Given the description of an element on the screen output the (x, y) to click on. 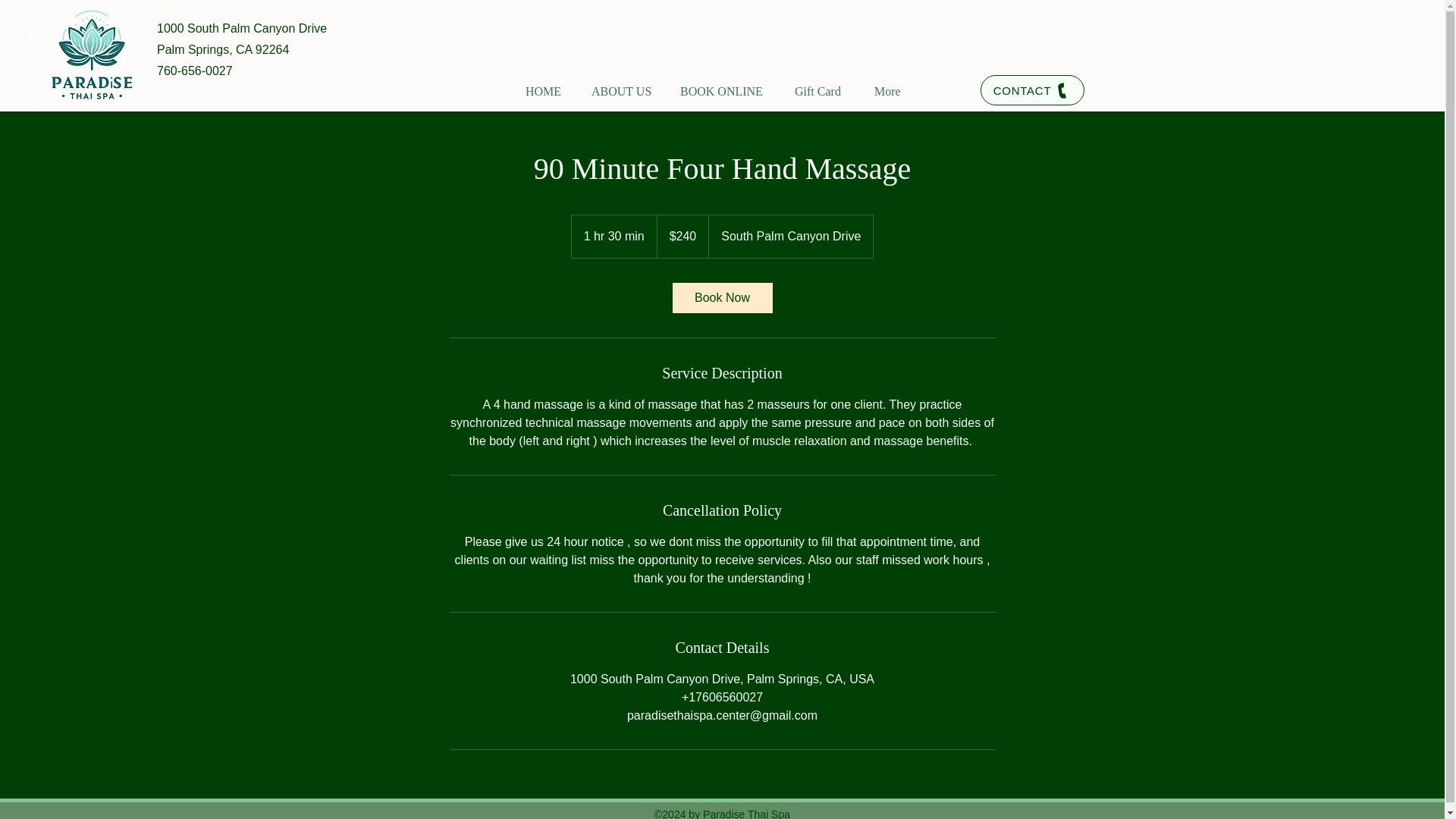
BOOK ONLINE (723, 84)
Book Now (721, 297)
ABOUT US (622, 84)
HOME (545, 84)
Gift Card (820, 84)
CONTACT (1031, 90)
